Given the description of an element on the screen output the (x, y) to click on. 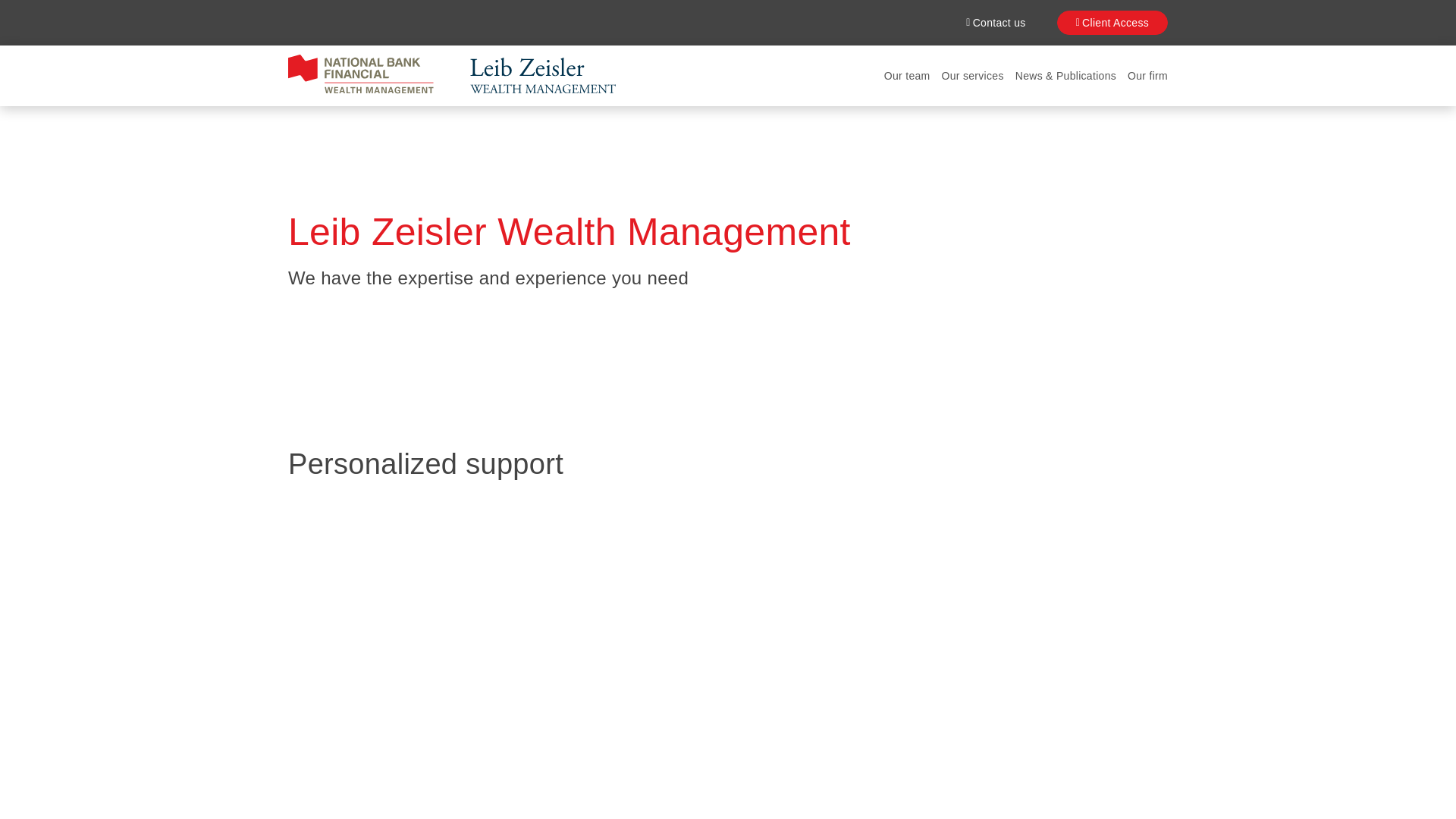
Our services (973, 75)
Our firm (1146, 75)
Contact us (995, 22)
Client Access (1112, 22)
Our team (906, 75)
